Given the description of an element on the screen output the (x, y) to click on. 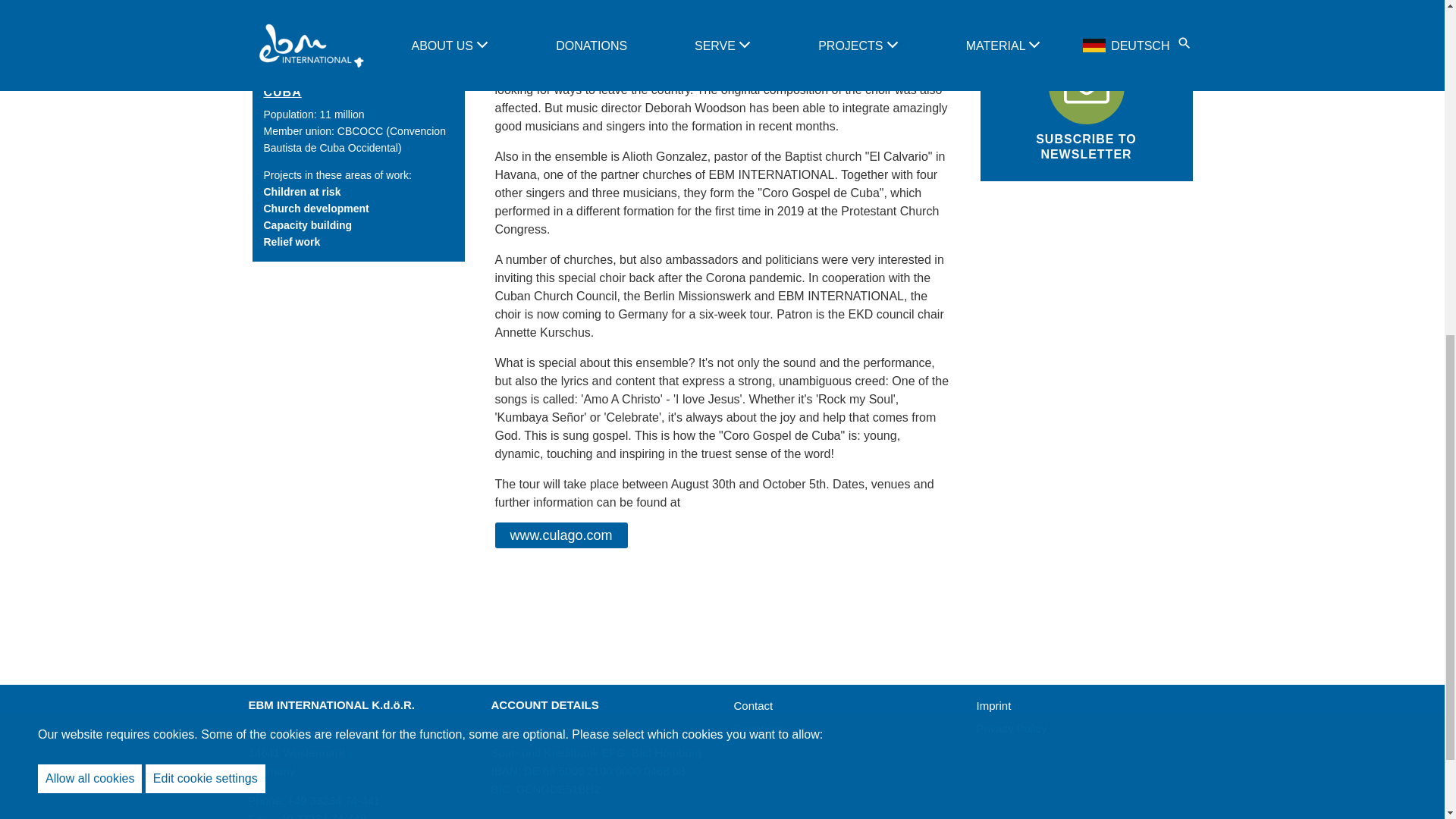
Imprint (993, 705)
SUBSCRIBE TO NEWSLETTER (1085, 101)
Privacy Policy (1011, 727)
Donations (759, 727)
Contact (753, 705)
CUBA (282, 91)
Donations (759, 727)
Imprint (993, 705)
www.culago.com (561, 535)
Contact (753, 705)
